Given the description of an element on the screen output the (x, y) to click on. 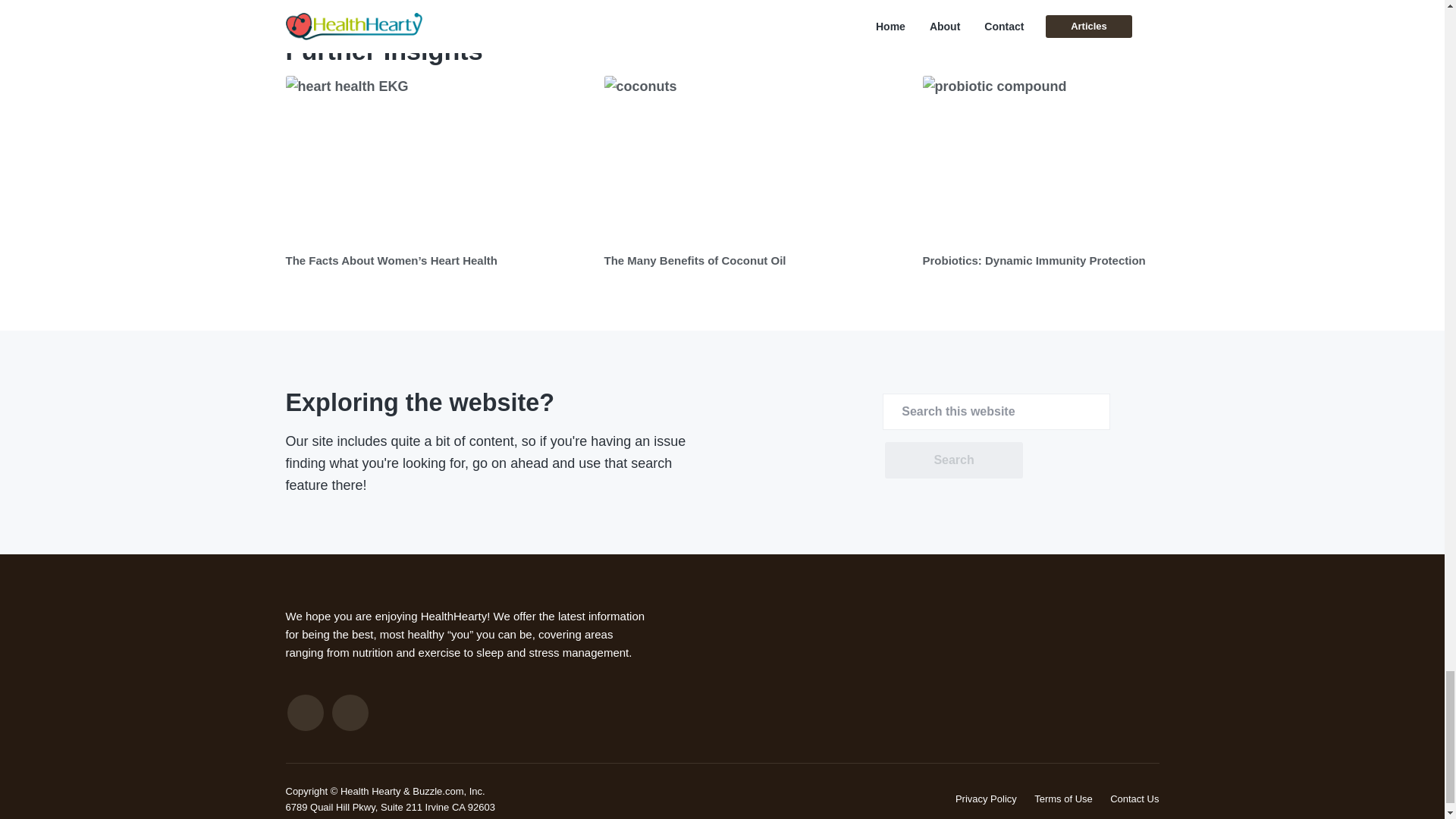
Search (953, 460)
Permanent Link (1032, 259)
Contact Us (1133, 798)
Search (953, 460)
Permanent Link (1073, 160)
Permanent Link (391, 259)
Permanent Link (755, 160)
Privacy Policy (985, 798)
Permanent Link (436, 160)
The Many Benefits of Coconut Oil (695, 259)
Permanent Link (695, 259)
Terms of Use (1063, 798)
Search (953, 460)
Probiotics: Dynamic Immunity Protection (1032, 259)
